Given the description of an element on the screen output the (x, y) to click on. 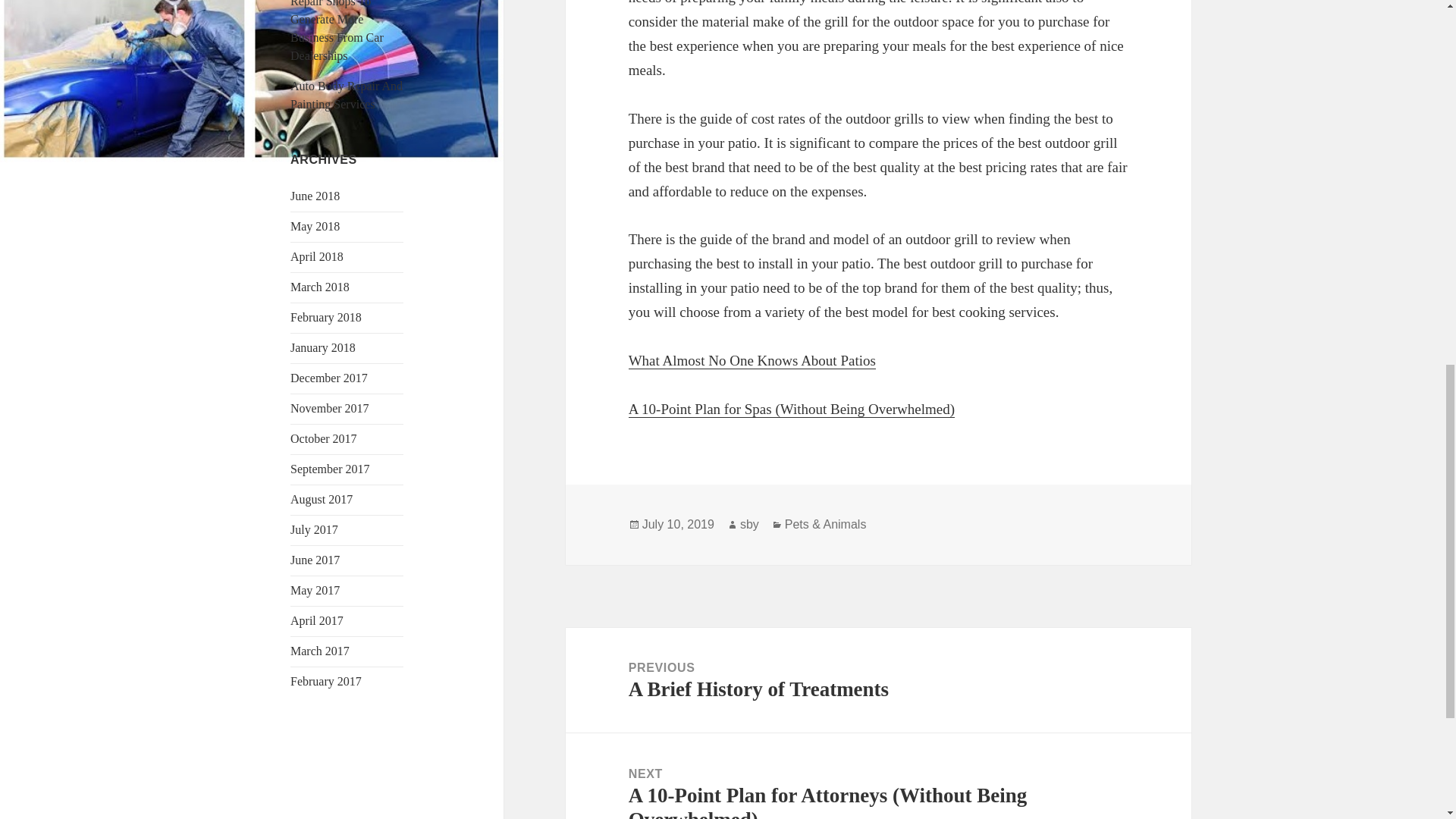
April 2018 (878, 680)
sby (316, 256)
May 2018 (748, 524)
April 2017 (314, 226)
July 10, 2019 (316, 620)
June 2017 (678, 524)
August 2017 (314, 559)
May 2017 (320, 499)
November 2017 (314, 590)
Auto Body Repair And Painting Services (329, 408)
July 2017 (346, 94)
March 2017 (313, 529)
February 2017 (319, 650)
